Given the description of an element on the screen output the (x, y) to click on. 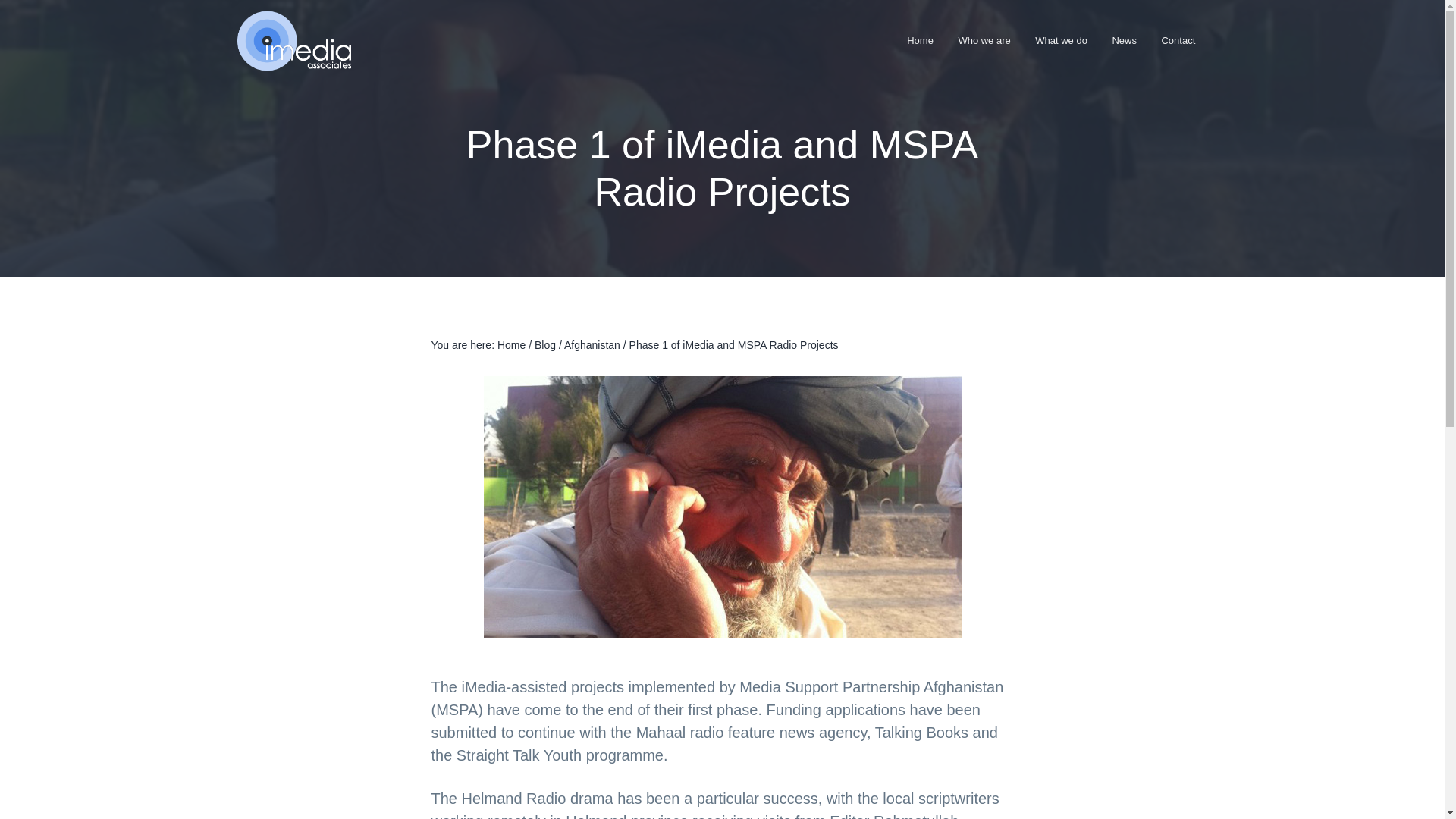
iMedia Associates (291, 80)
Contact (1177, 40)
Who we are (983, 40)
News (1123, 40)
Afghanistan (592, 345)
Home (919, 40)
Blog (545, 345)
Home (511, 345)
What we do (1061, 40)
